Given the description of an element on the screen output the (x, y) to click on. 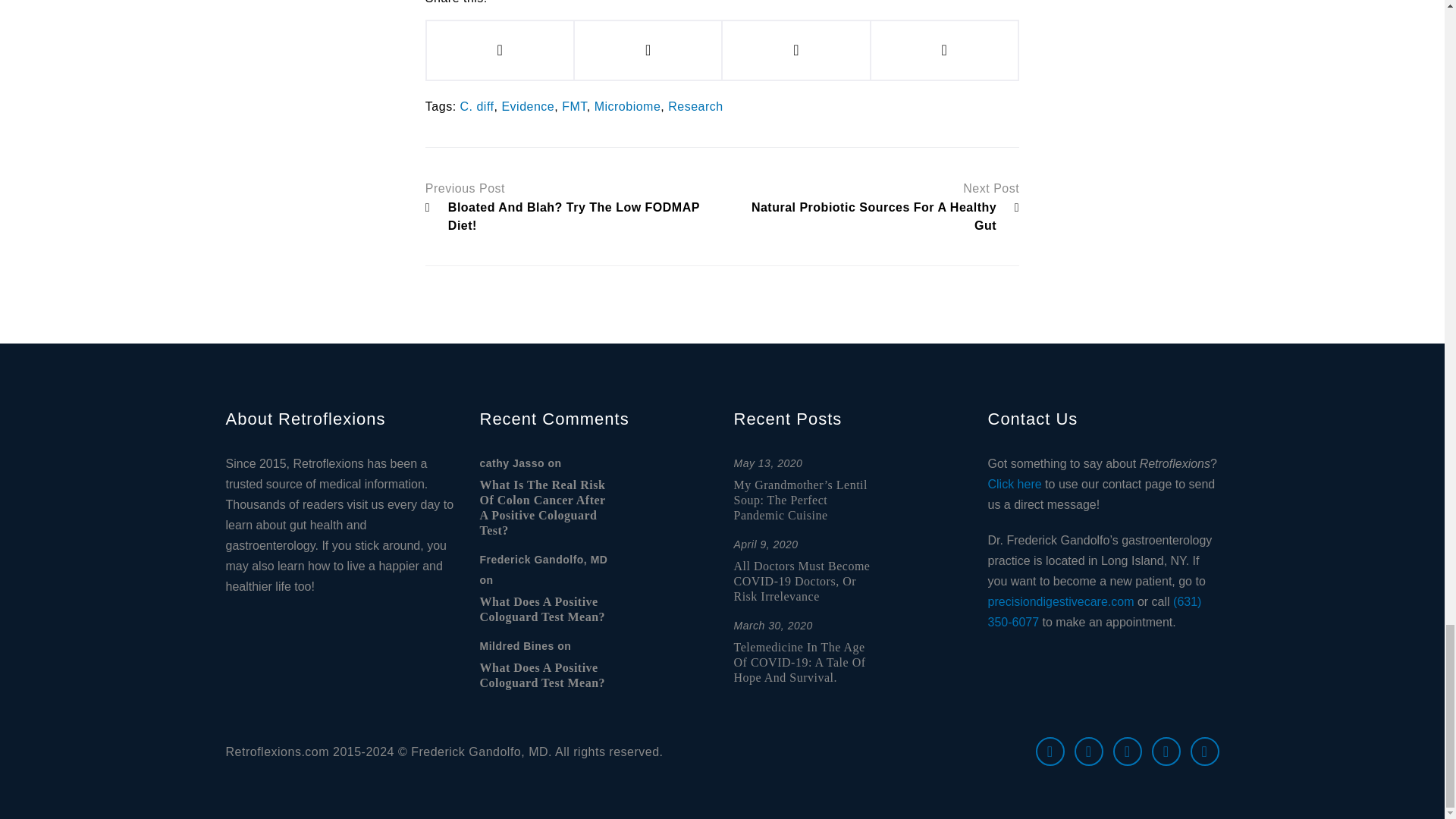
Share this on LinkedIn (943, 50)
C. diff (477, 106)
Share this on Facebook (499, 50)
FMT (574, 106)
Evidence (527, 106)
Share this on Pinterest (795, 50)
Share this on Twitter (647, 50)
